Given the description of an element on the screen output the (x, y) to click on. 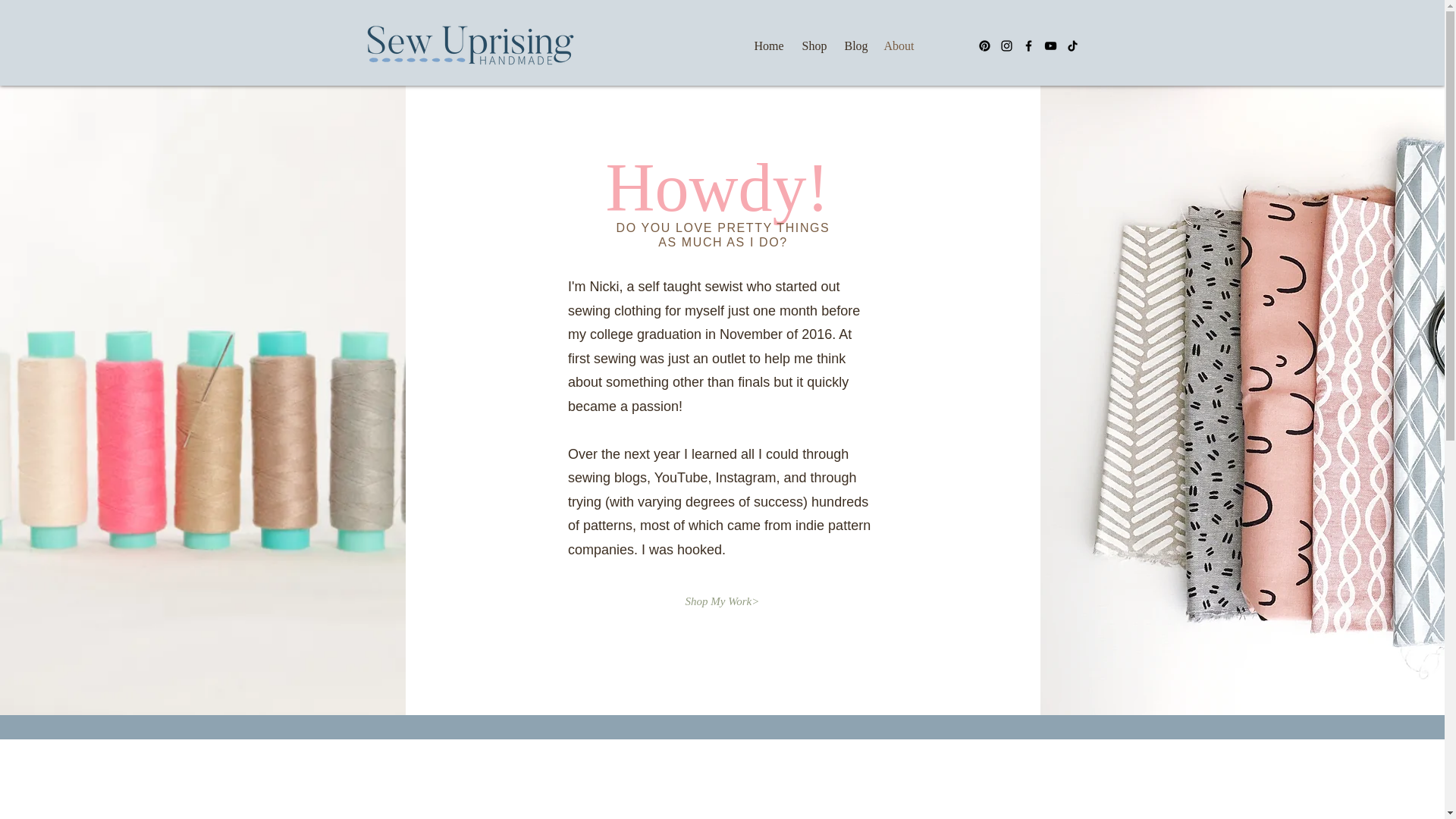
Shop (815, 45)
About (900, 45)
Blog (856, 45)
Home (769, 45)
